Given the description of an element on the screen output the (x, y) to click on. 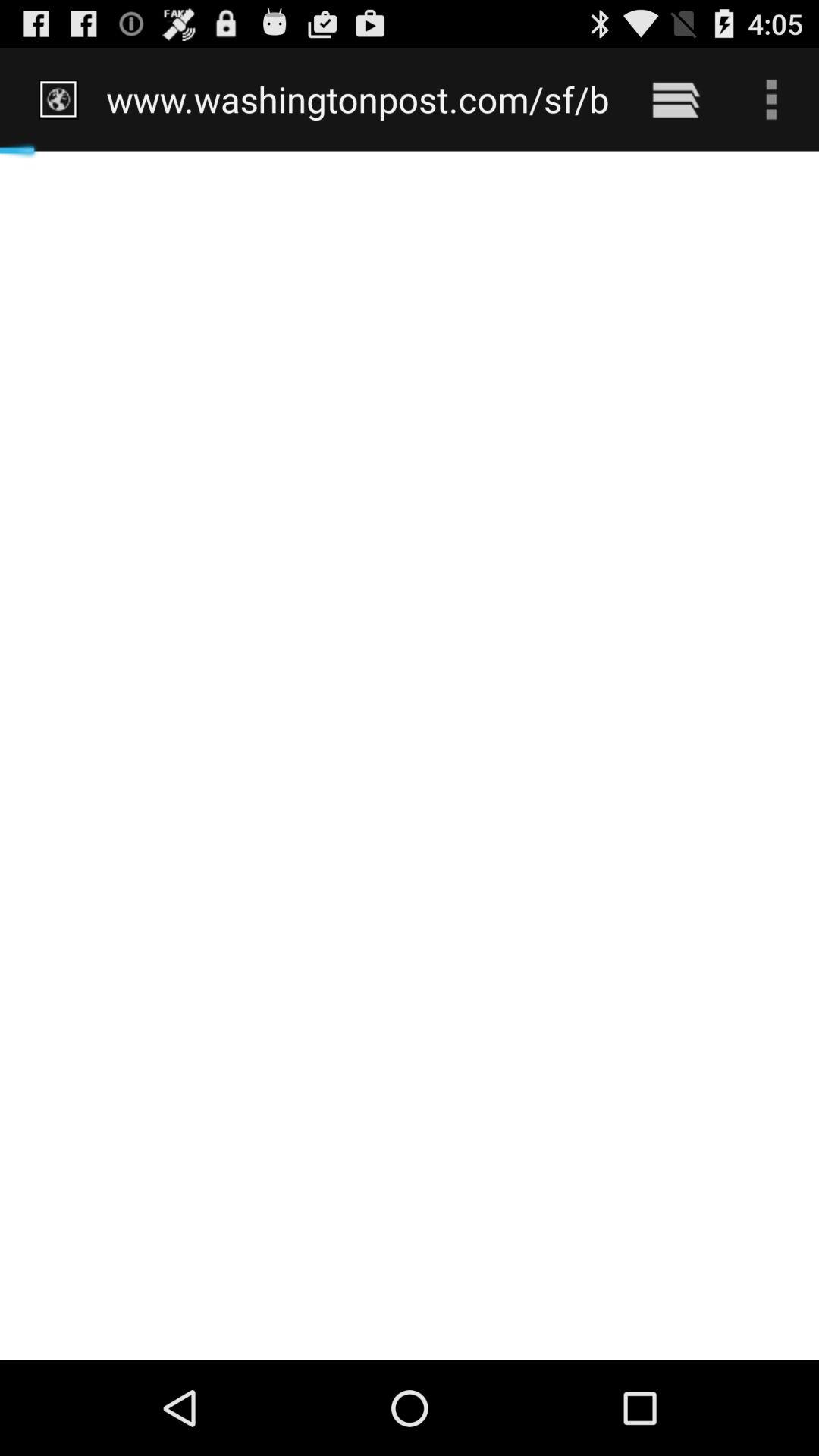
turn on item at the center (409, 755)
